Given the description of an element on the screen output the (x, y) to click on. 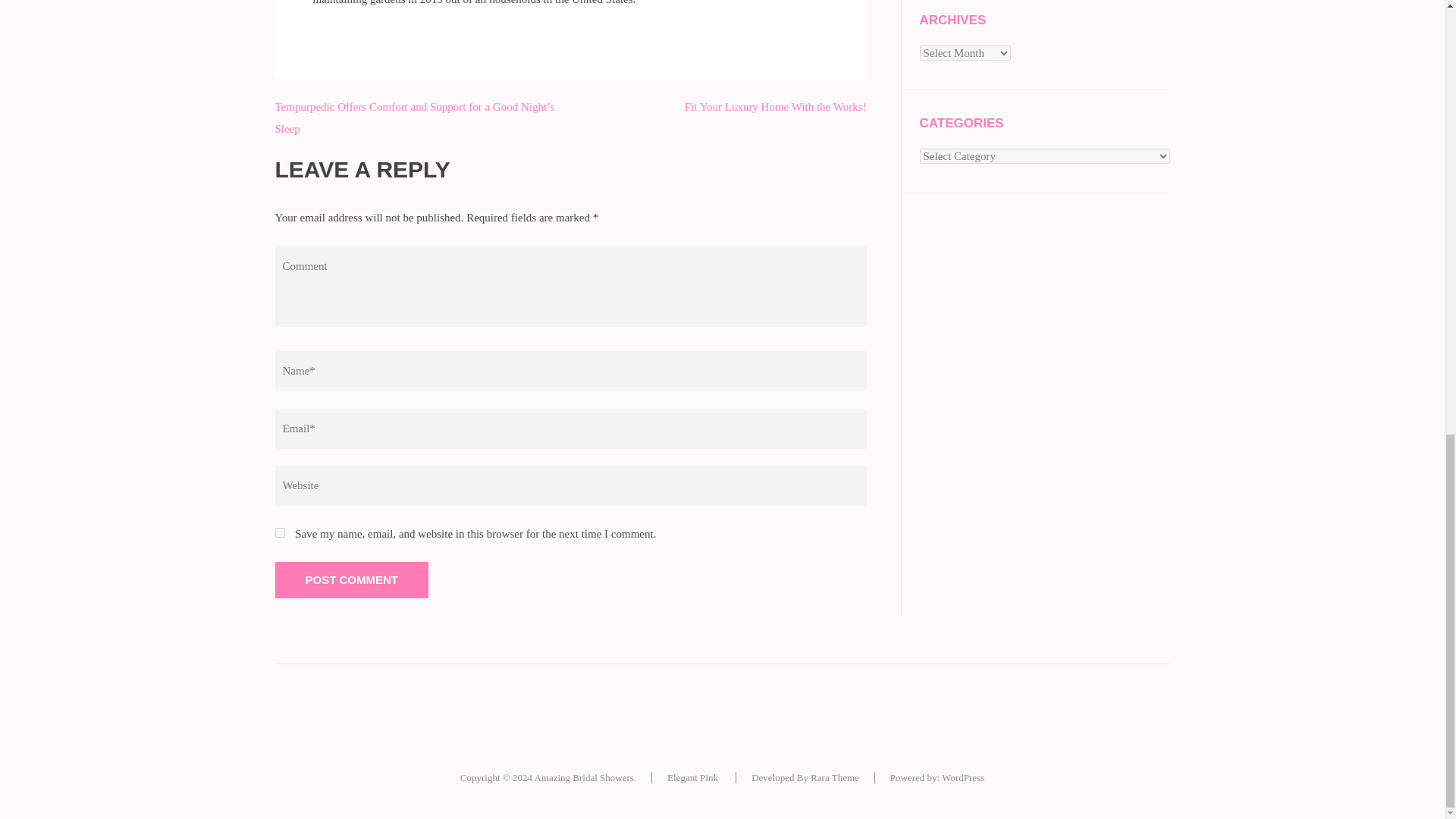
Post Comment (351, 579)
yes (279, 532)
Post Comment (351, 579)
Fit Your Luxury Home With the Works! (775, 106)
